Given the description of an element on the screen output the (x, y) to click on. 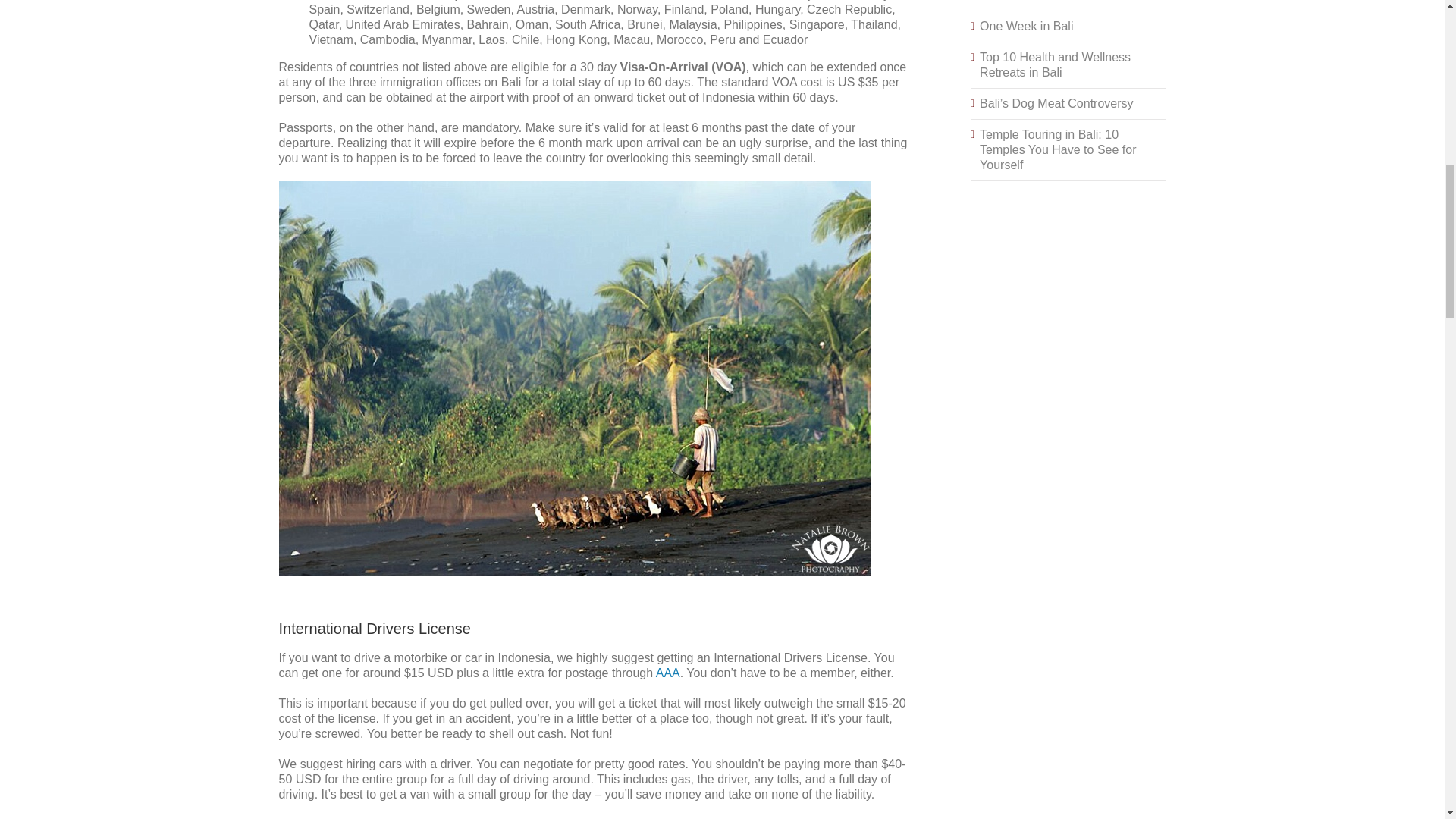
Top 10 Health and Wellness Retreats in Bali (1055, 64)
AAA (667, 672)
One Week in Bali (1026, 25)
